Given the description of an element on the screen output the (x, y) to click on. 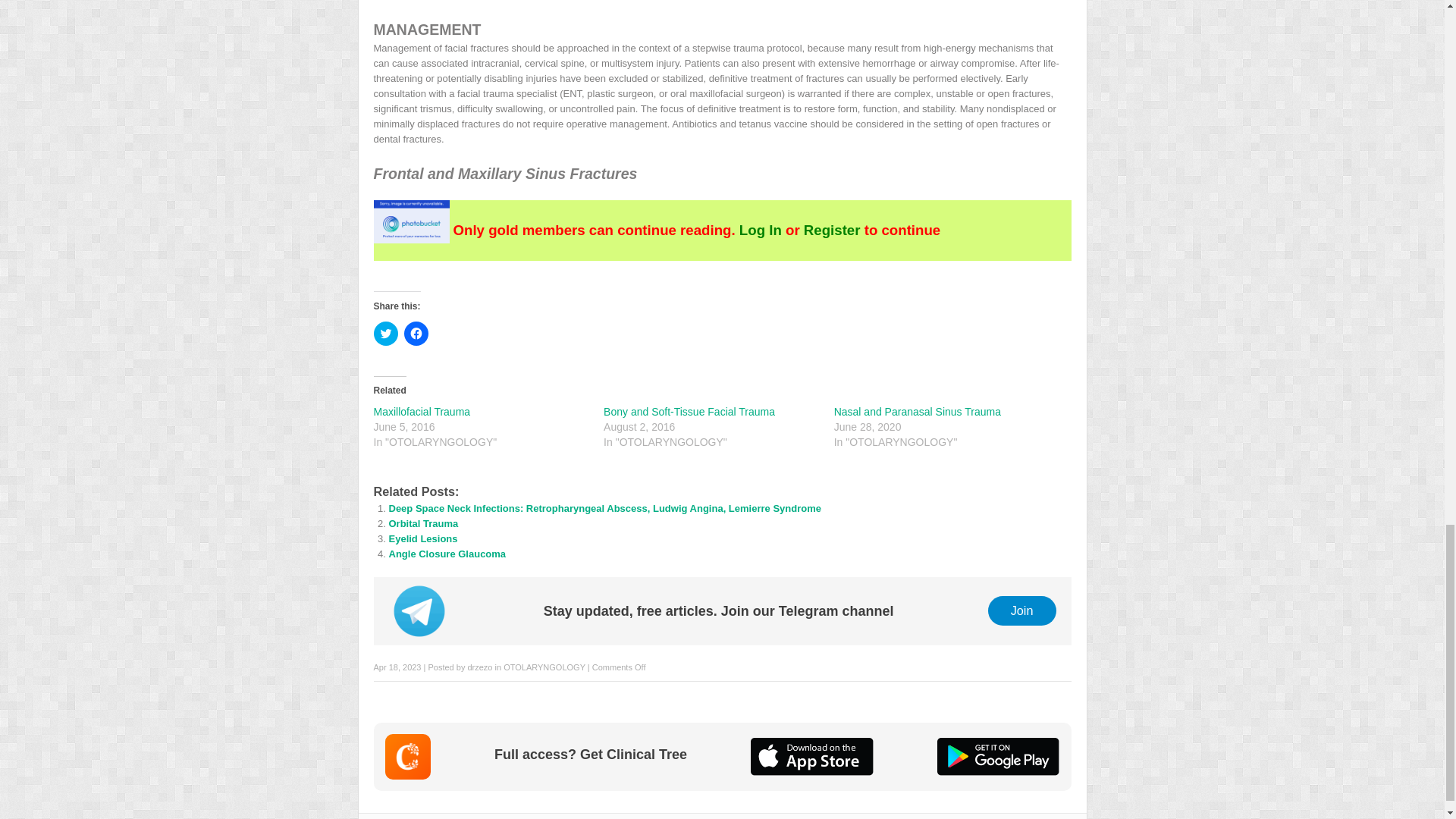
Nasal and Paranasal Sinus Trauma (917, 411)
Click to share on Twitter (384, 333)
Bony and Soft-Tissue Facial Trauma (689, 411)
Orbital Trauma (423, 523)
Eyelid Lesions (422, 538)
Angle Closure Glaucoma (446, 553)
Maxillofacial Trauma (421, 411)
Click to share on Facebook (415, 333)
